Given the description of an element on the screen output the (x, y) to click on. 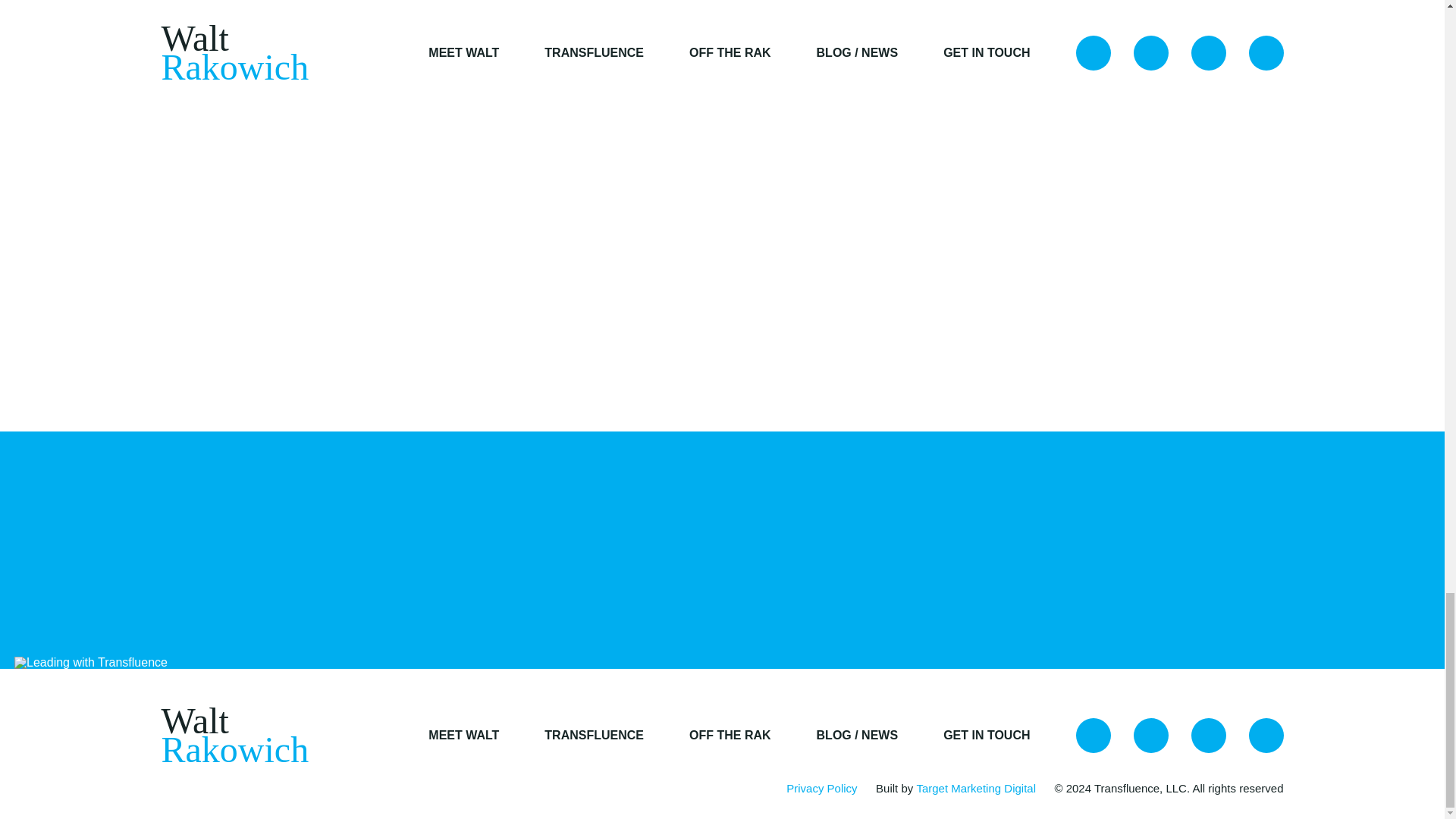
Twitter (1092, 735)
OFF THE RAK (729, 735)
TRANSFLUENCE (593, 735)
MEET WALT (463, 735)
GET IN TOUCH (986, 735)
